Given the description of an element on the screen output the (x, y) to click on. 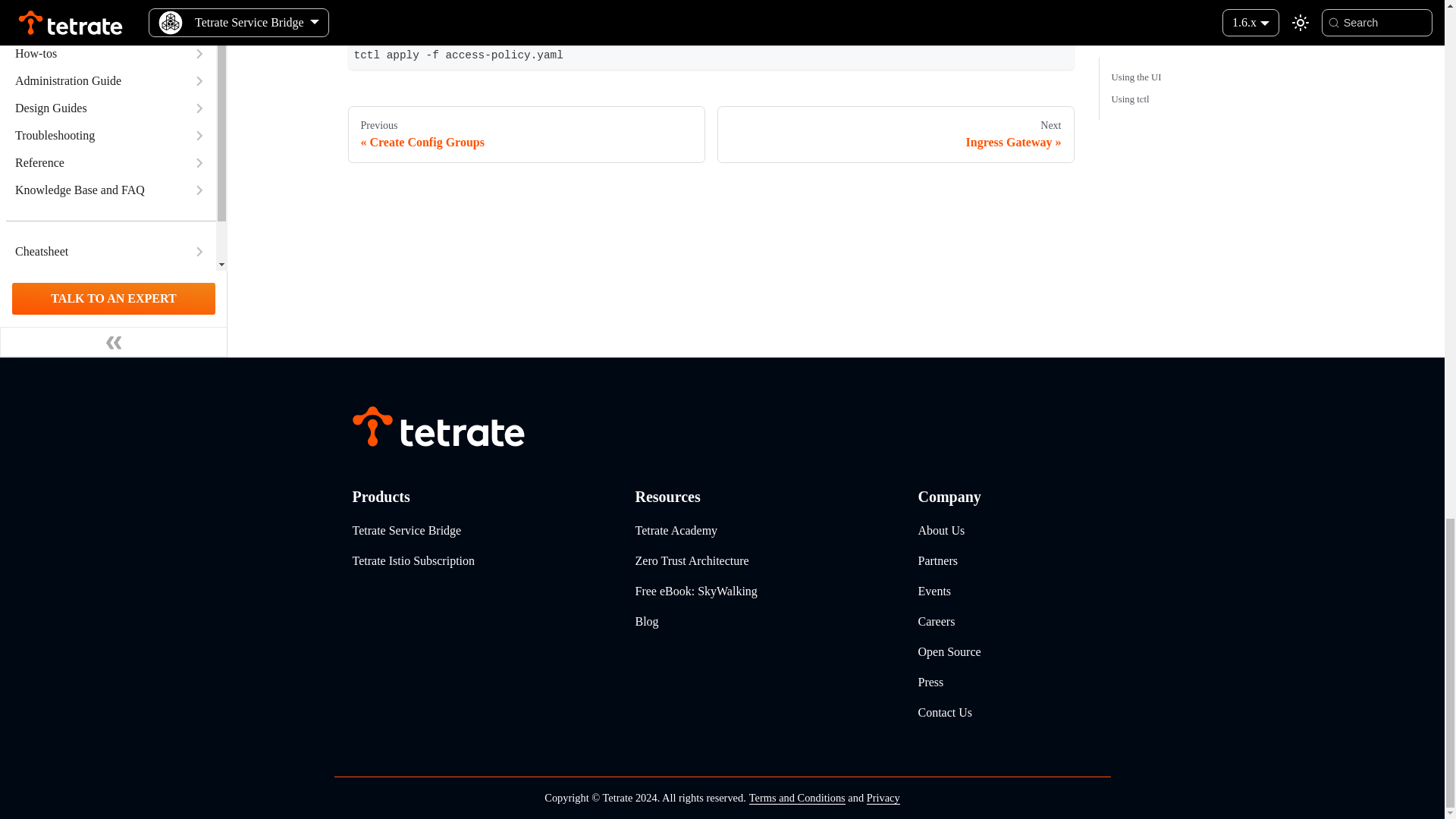
tctl apply -f access-policy.yaml (710, 55)
